Given the description of an element on the screen output the (x, y) to click on. 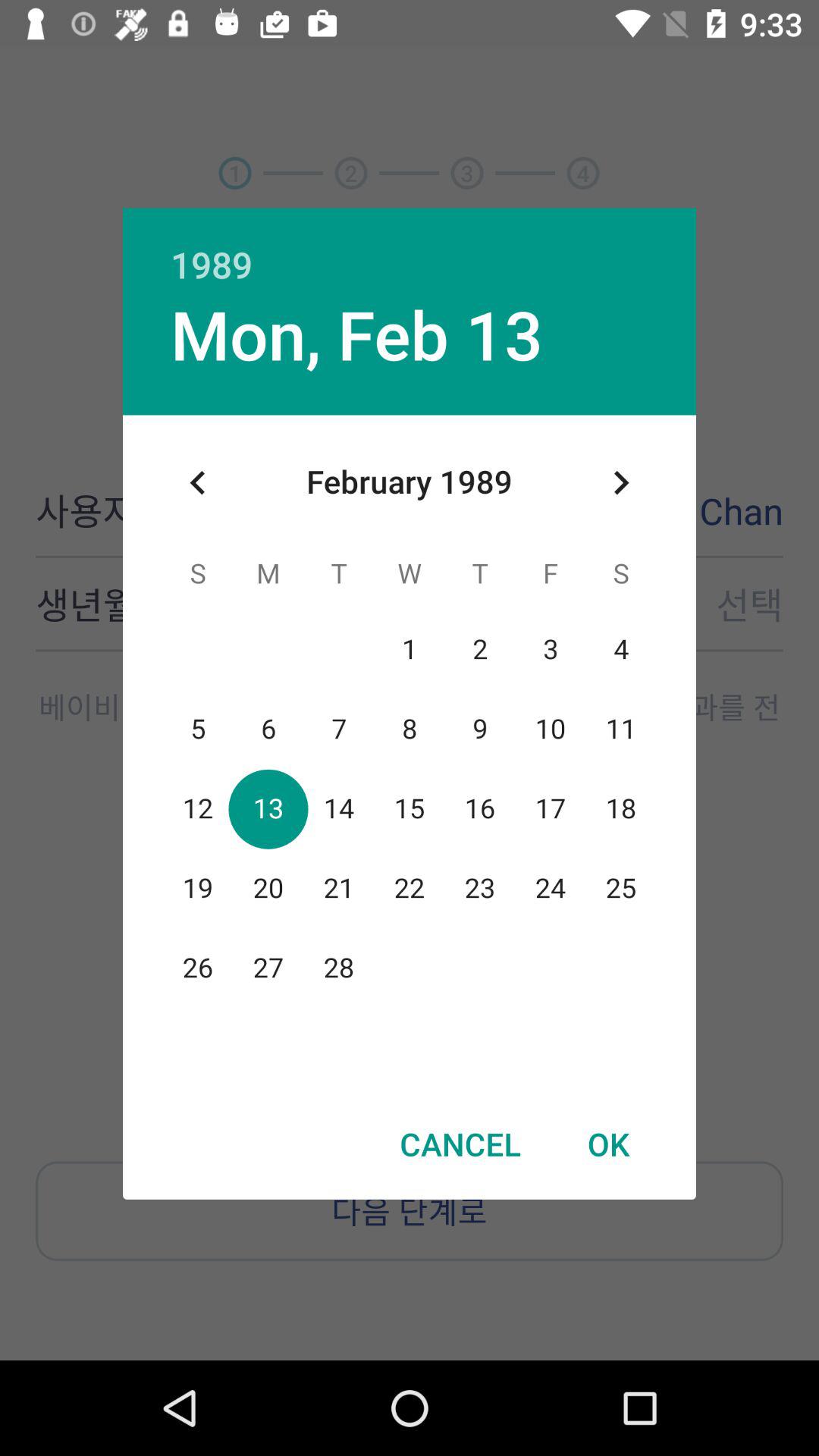
press ok item (608, 1143)
